Given the description of an element on the screen output the (x, y) to click on. 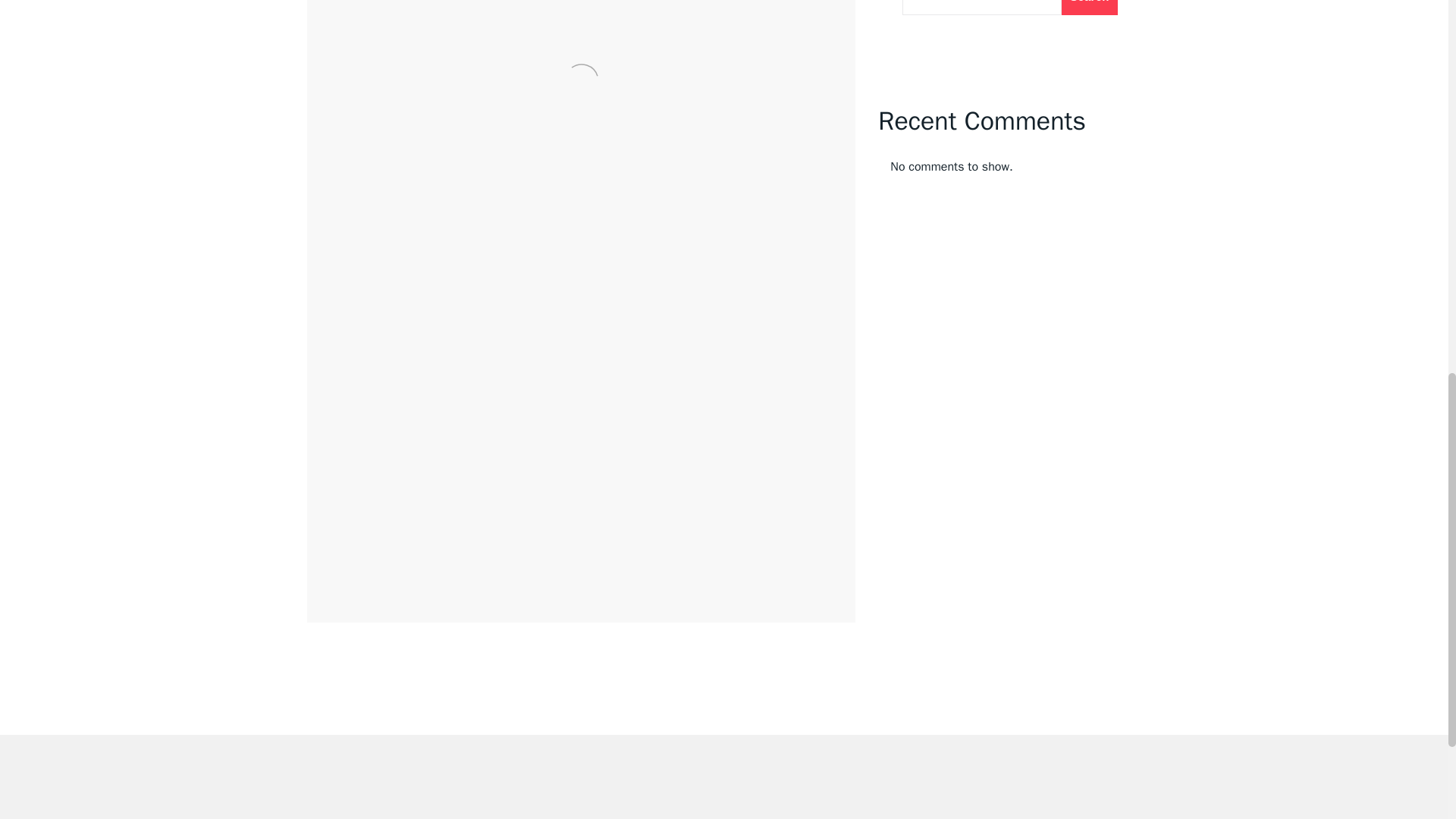
Search (1089, 7)
